Given the description of an element on the screen output the (x, y) to click on. 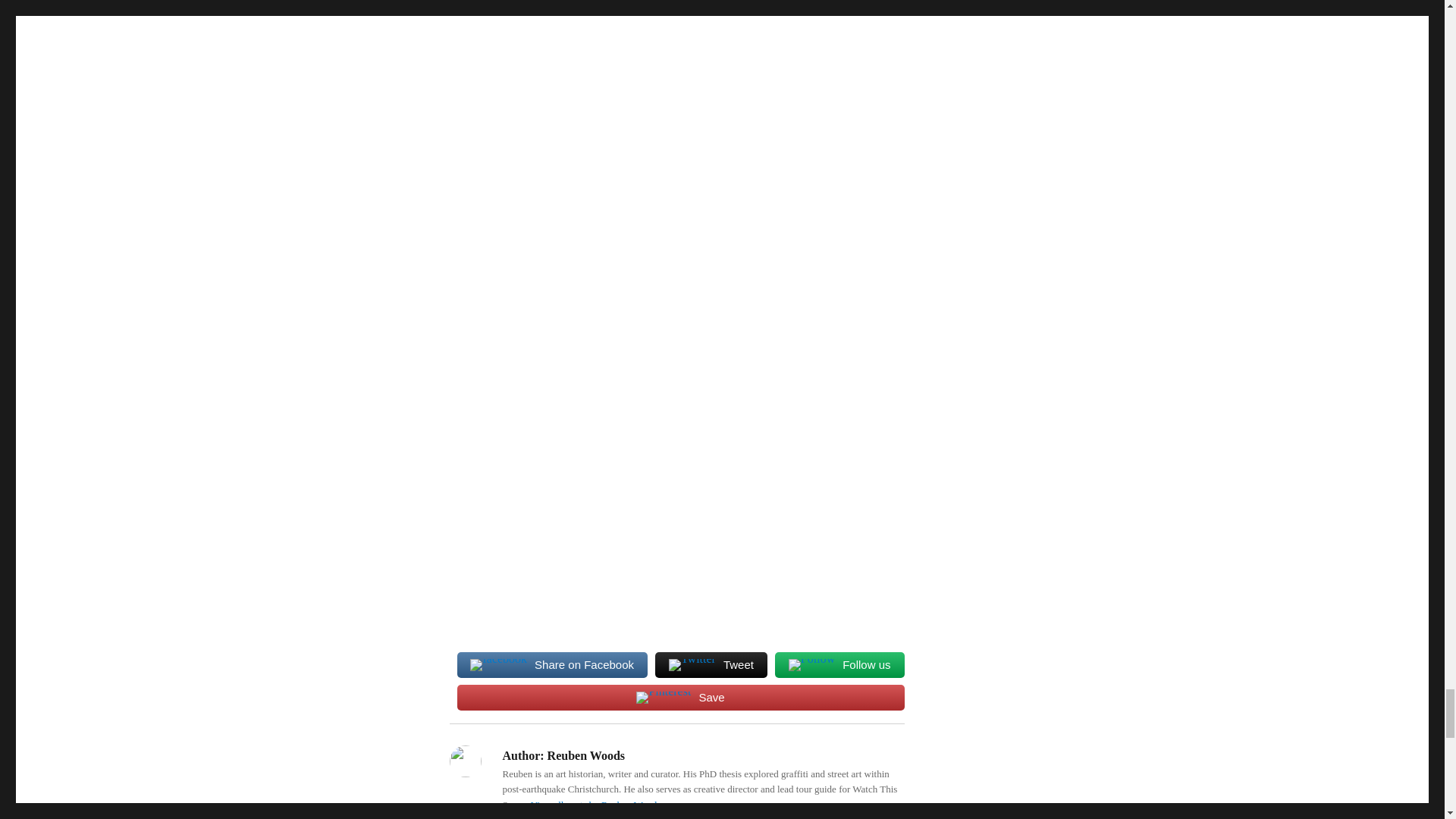
Share on Facebook (551, 664)
View all posts by Reuben Woods (596, 804)
Follow us (839, 664)
Save (680, 696)
Tweet (711, 664)
